Given the description of an element on the screen output the (x, y) to click on. 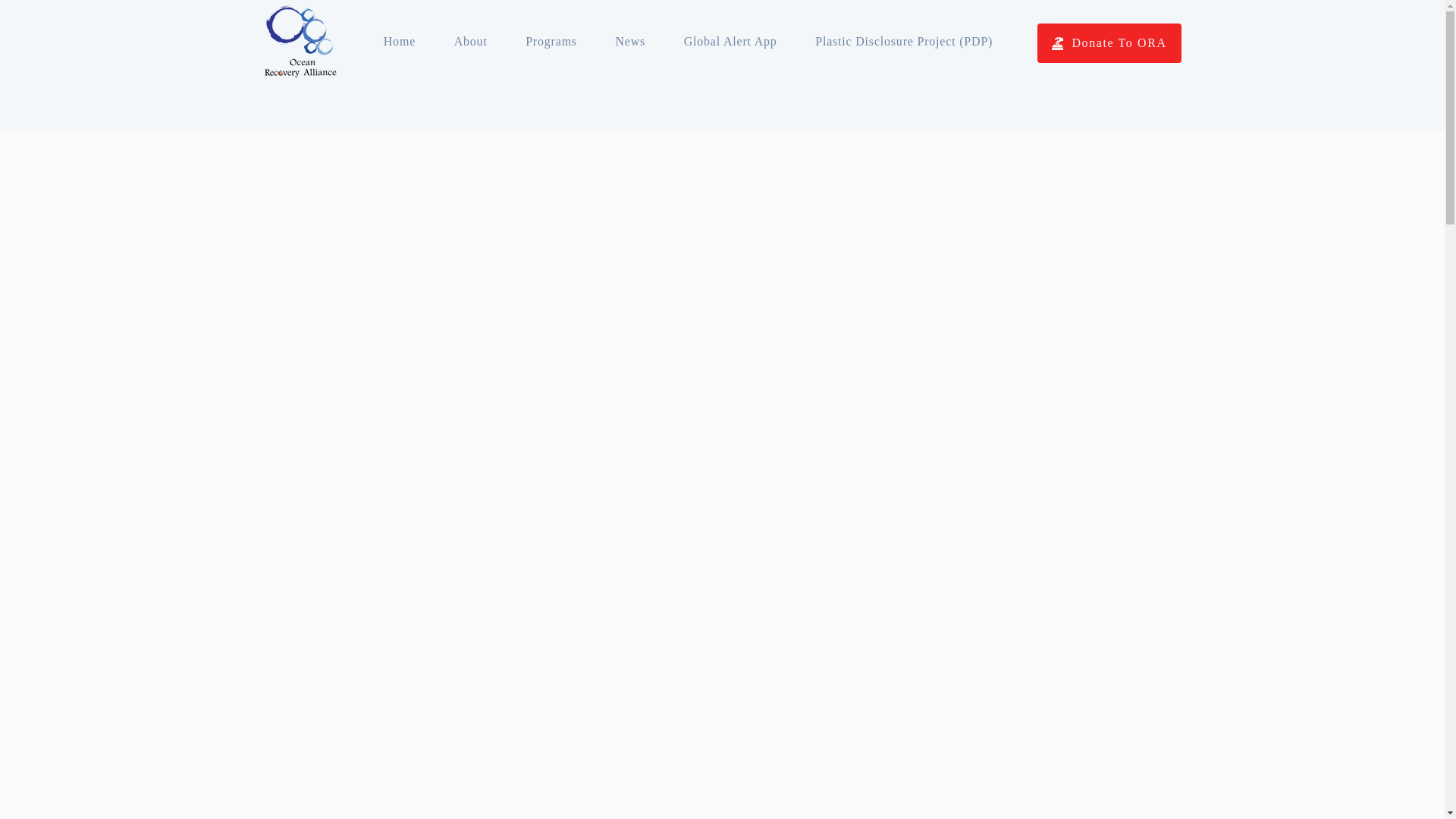
Global Alert App (729, 41)
Donate To ORA (1108, 43)
About (470, 41)
News (629, 41)
Home (398, 41)
